Given the description of an element on the screen output the (x, y) to click on. 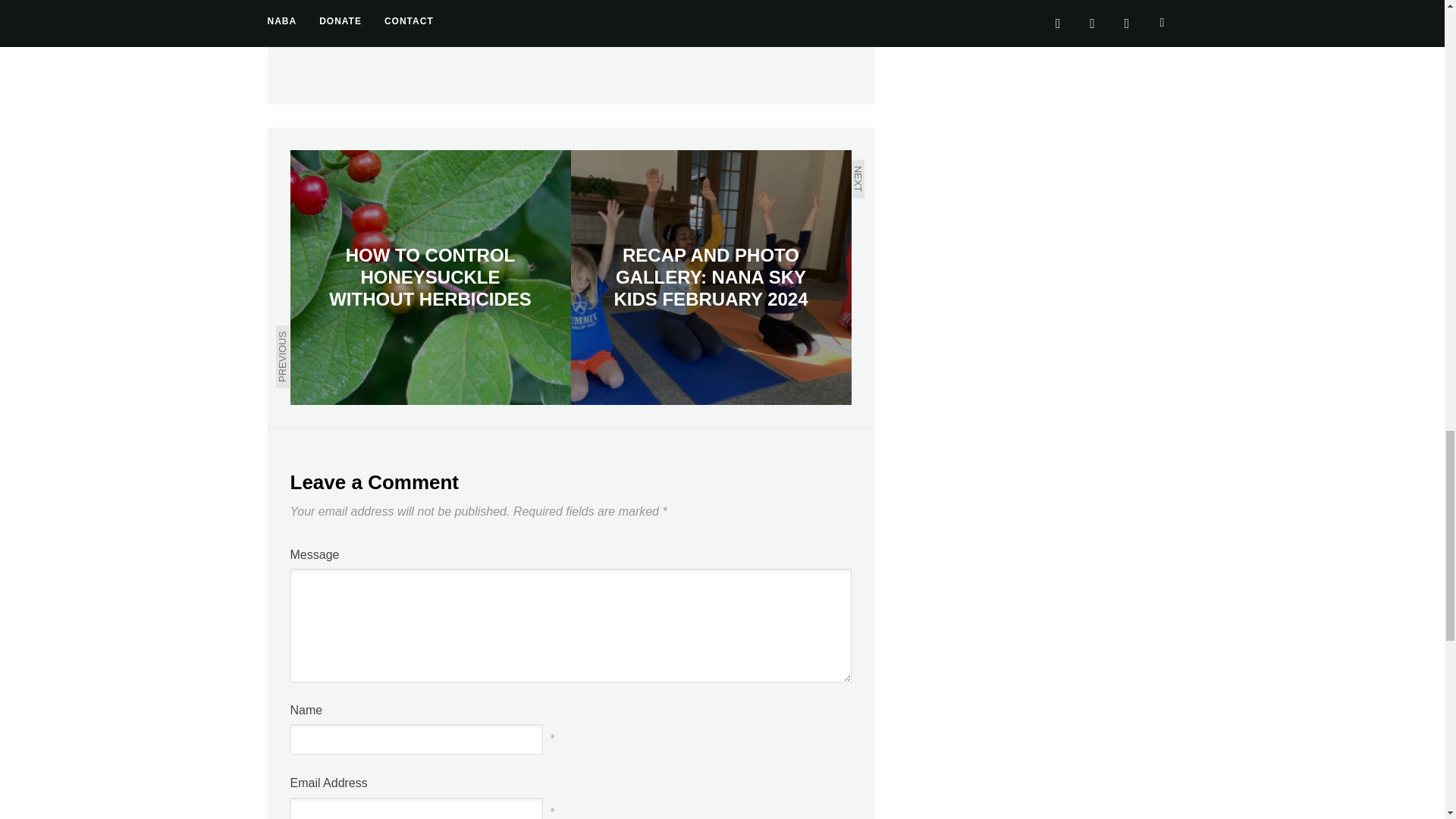
Posts by northavondale (432, 14)
How to control honeysuckle without herbicides (429, 276)
Recap and photo gallery: NANA SKY KIDS February 2024 (710, 276)
